Given the description of an element on the screen output the (x, y) to click on. 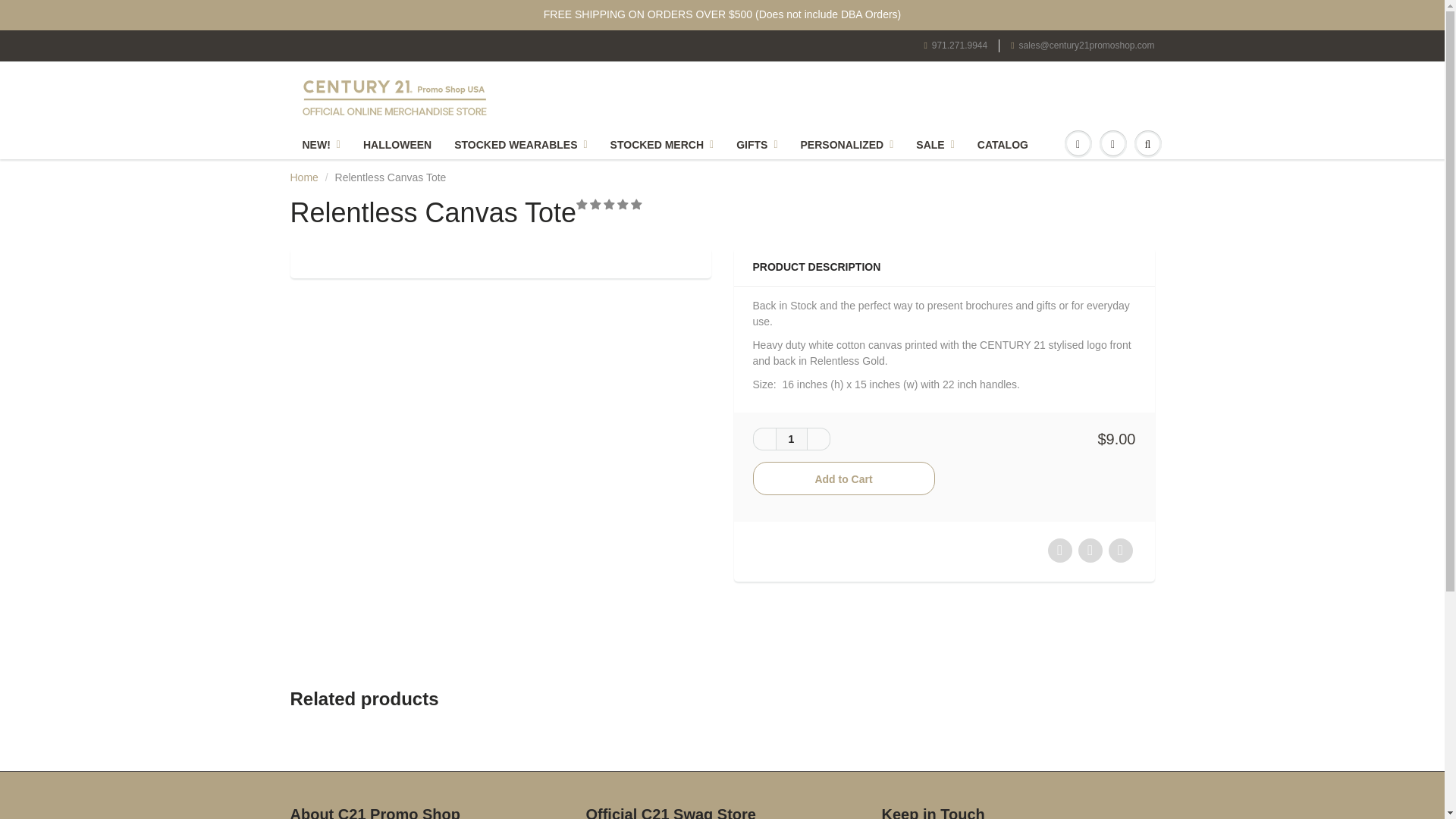
STOCKED MERCH (661, 144)
STOCKED WEARABLES (520, 144)
HALLOWEEN (397, 144)
Add to Cart (843, 478)
NEW! (321, 144)
Home (303, 177)
971.271.9944 (955, 45)
1 (790, 438)
